Given the description of an element on the screen output the (x, y) to click on. 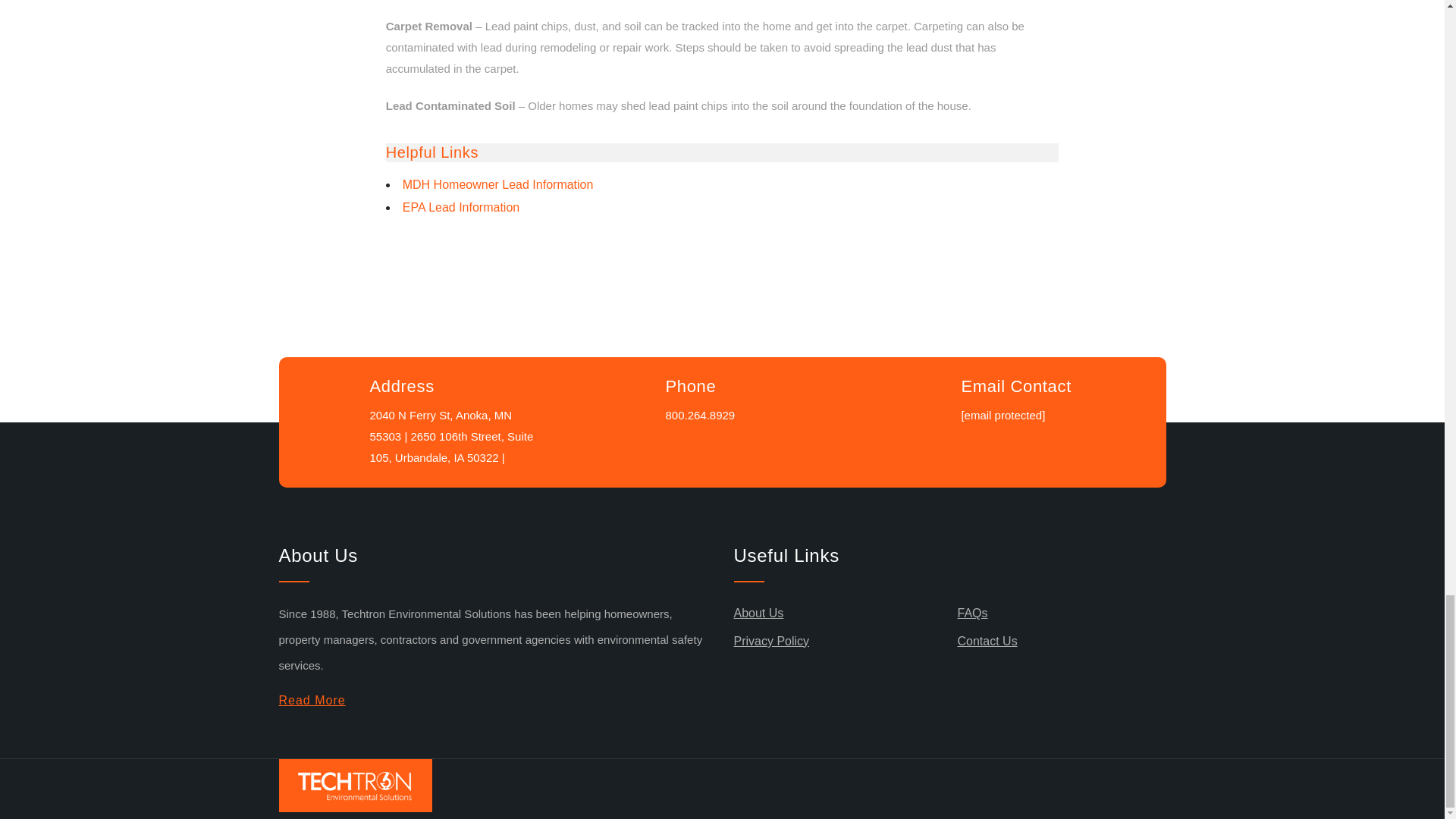
Helpful Links (432, 152)
EPA Lead Information (461, 206)
Contact Us (986, 640)
Privacy Policy (771, 640)
MDH Homeowner Lead Information (498, 184)
800.264.8929 (700, 414)
About Us (758, 612)
FAQs (971, 612)
Read More (312, 700)
